Given the description of an element on the screen output the (x, y) to click on. 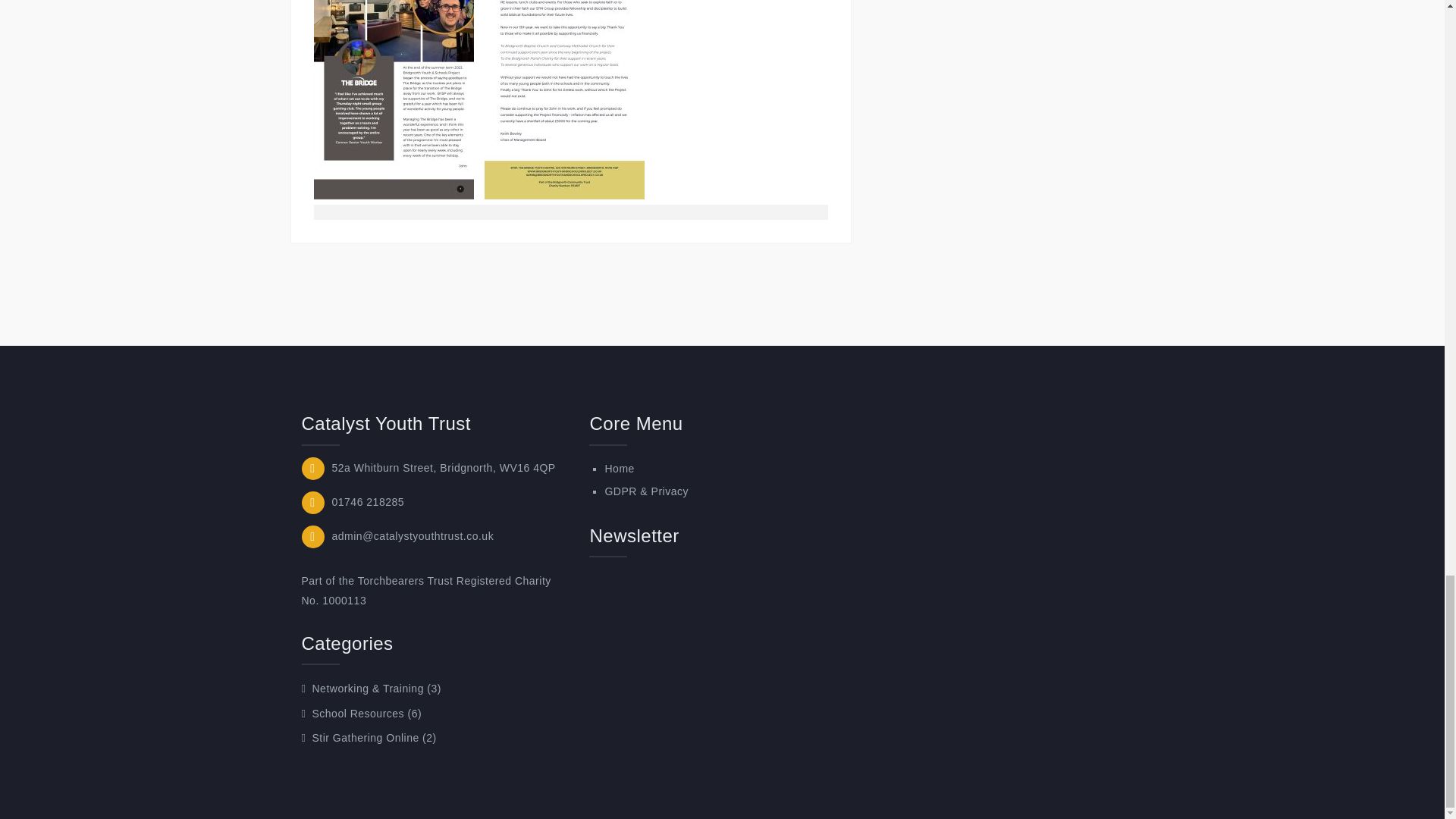
Stir Gathering Online (365, 737)
Home (618, 468)
School Resources (357, 713)
